Given the description of an element on the screen output the (x, y) to click on. 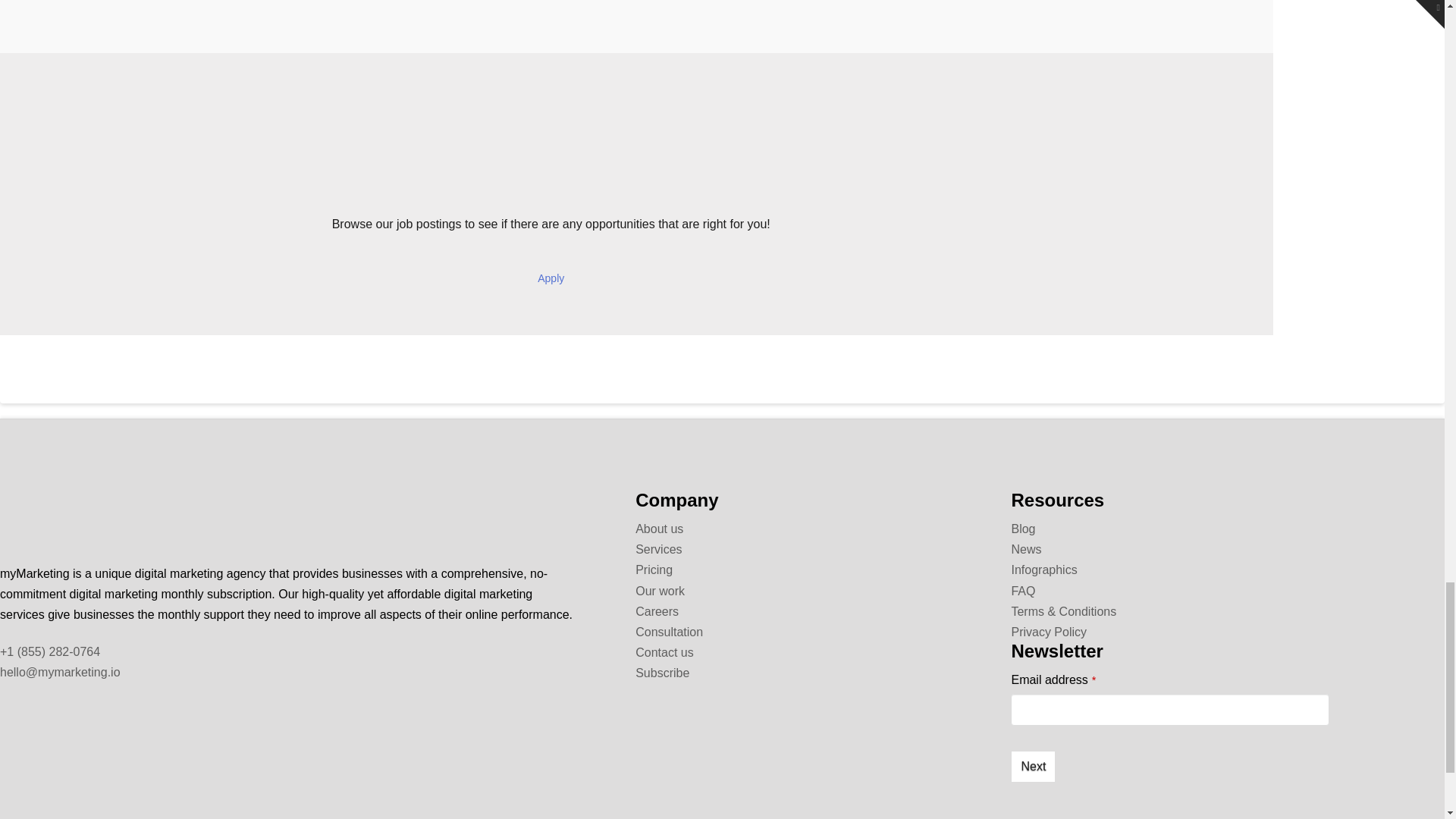
Pricing (653, 569)
Our work (659, 590)
Subscribe (661, 672)
Contact us (663, 652)
Services (657, 549)
Careers (550, 278)
Careers (656, 611)
Consultation (668, 631)
Apply (550, 278)
About us (658, 528)
